Given the description of an element on the screen output the (x, y) to click on. 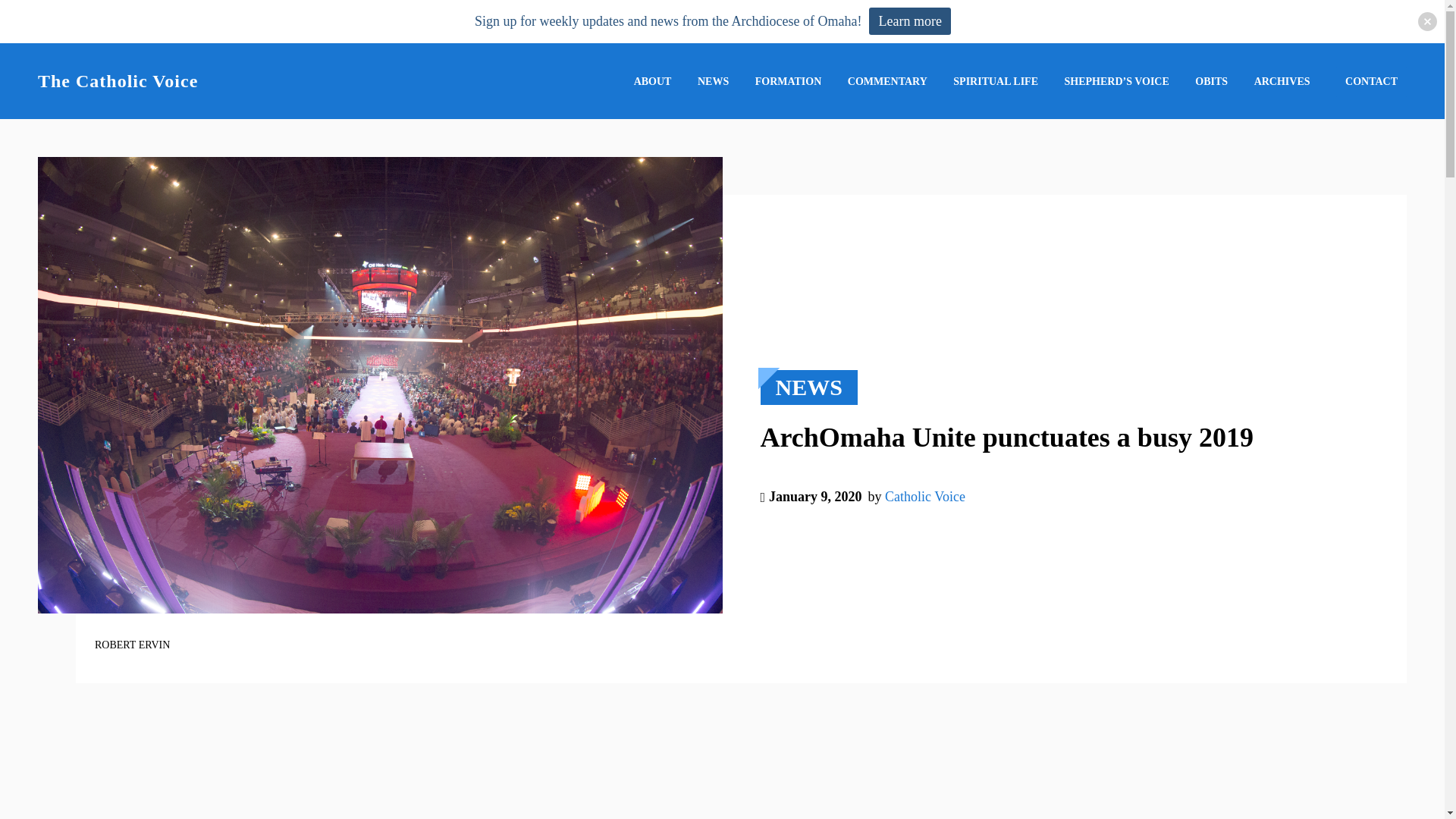
ABOUT (652, 81)
ARCHIVES (1281, 81)
SPIRITUAL LIFE (995, 81)
COMMENTARY (887, 81)
Posts by Catholic Voice (925, 496)
Learn more (909, 21)
CONTACT (1371, 81)
NEWS (713, 81)
OBITS (1211, 81)
FORMATION (788, 81)
